Given the description of an element on the screen output the (x, y) to click on. 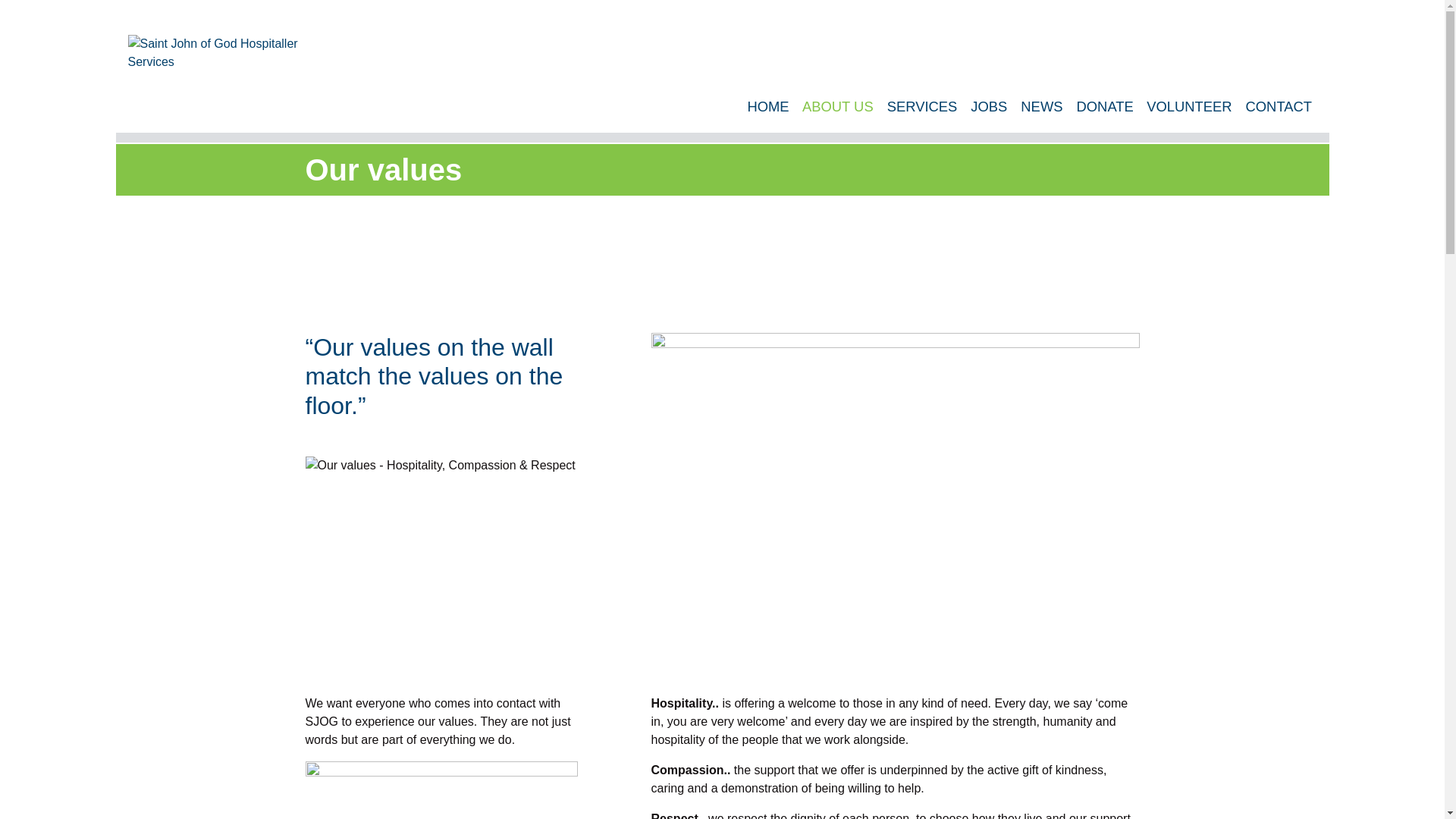
VOLUNTEER (1191, 106)
Donate (1105, 106)
CONTACT (1279, 106)
ABOUT US (839, 106)
JOBS (990, 106)
HOME (767, 106)
NEWS (1042, 106)
SERVICES (923, 106)
DONATE (1105, 106)
